Given the description of an element on the screen output the (x, y) to click on. 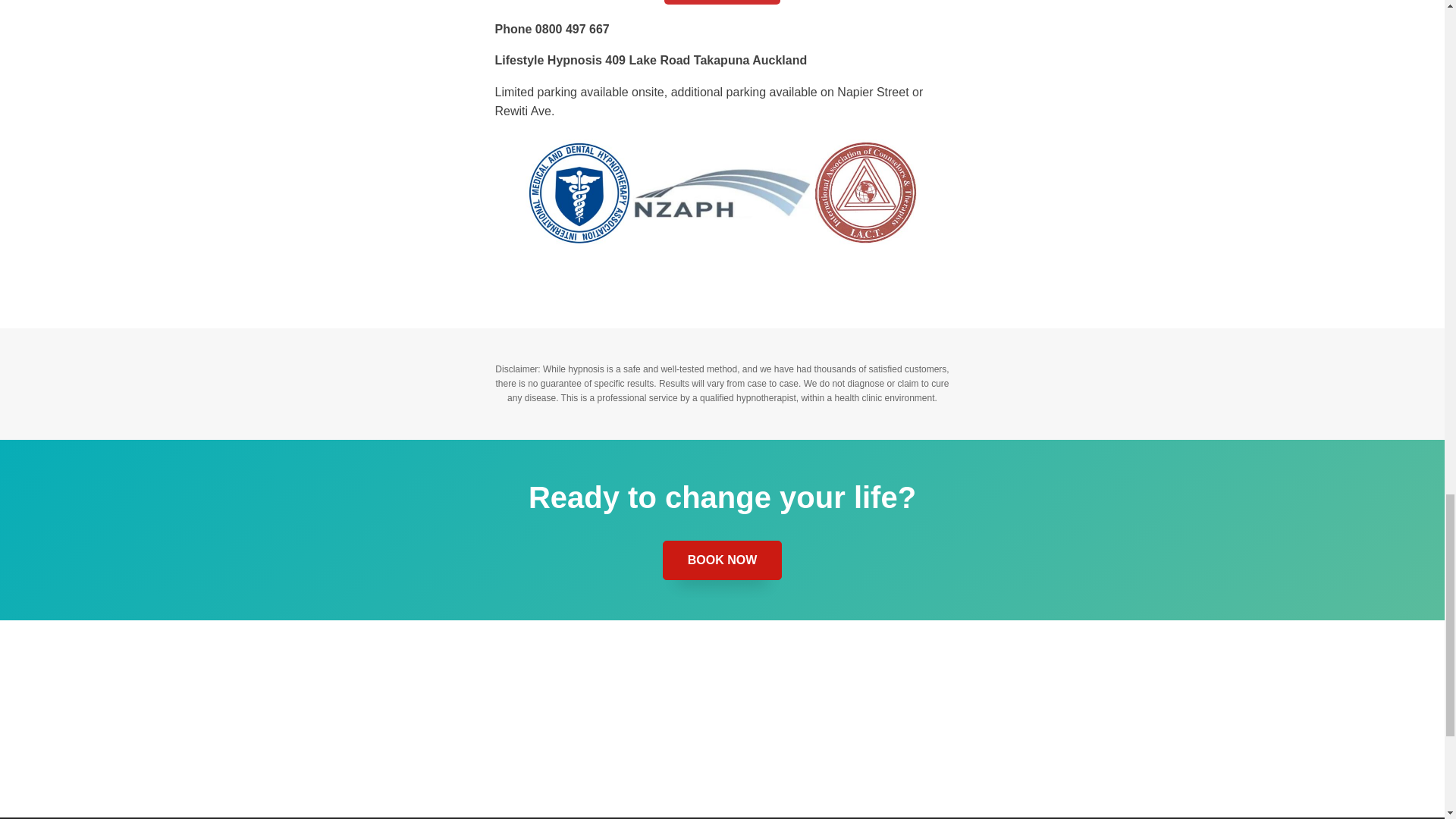
BOOK NOW (722, 559)
BOOK NOW (720, 2)
